Given the description of an element on the screen output the (x, y) to click on. 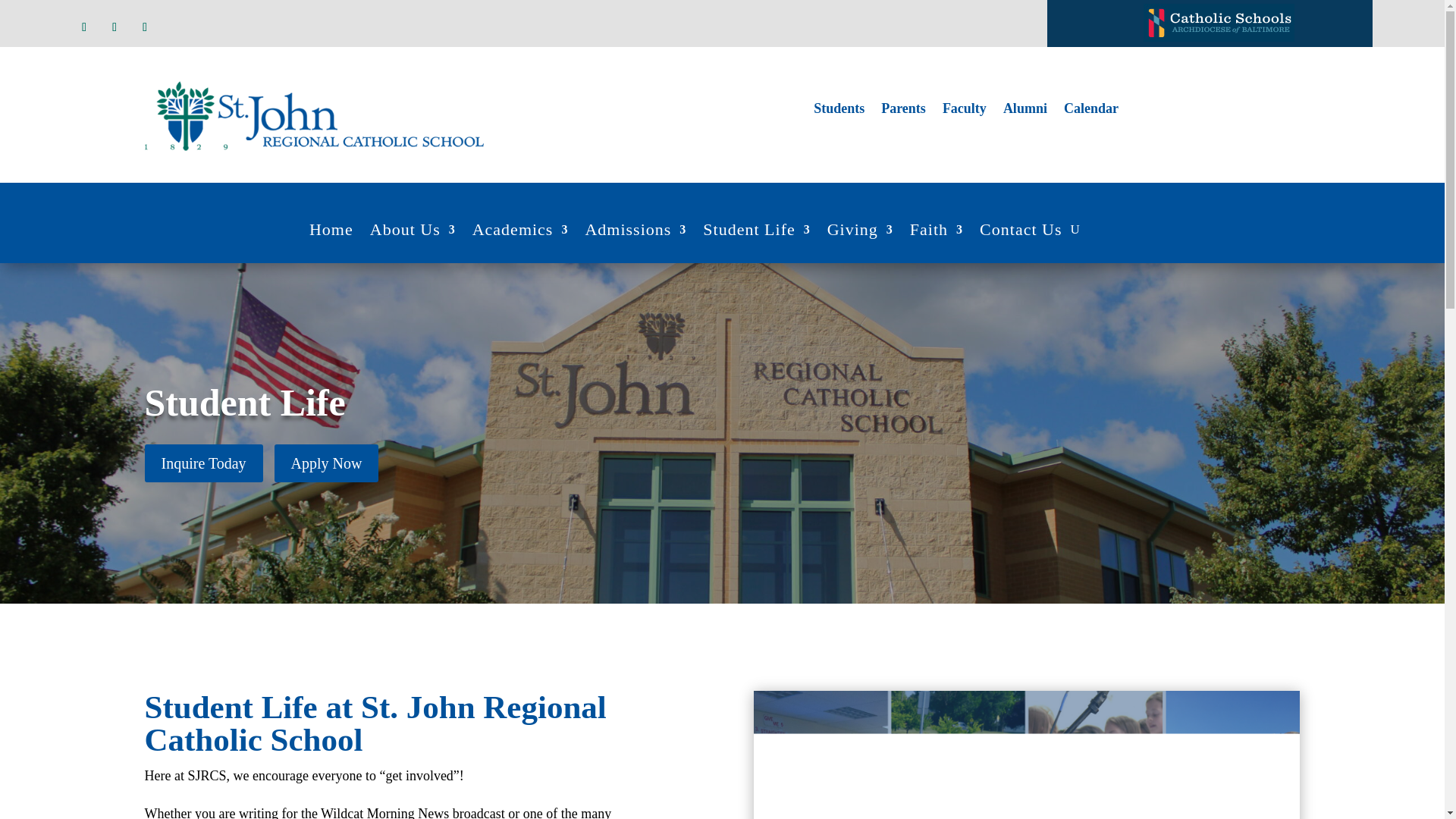
Faculty (964, 111)
Parents (903, 111)
logo (313, 114)
Follow on Instagram (113, 27)
Calendar (1091, 111)
CSAOB (1218, 22)
Students (838, 111)
Follow on Facebook (83, 27)
Alumni (1024, 111)
Follow on Youtube (144, 27)
